Given the description of an element on the screen output the (x, y) to click on. 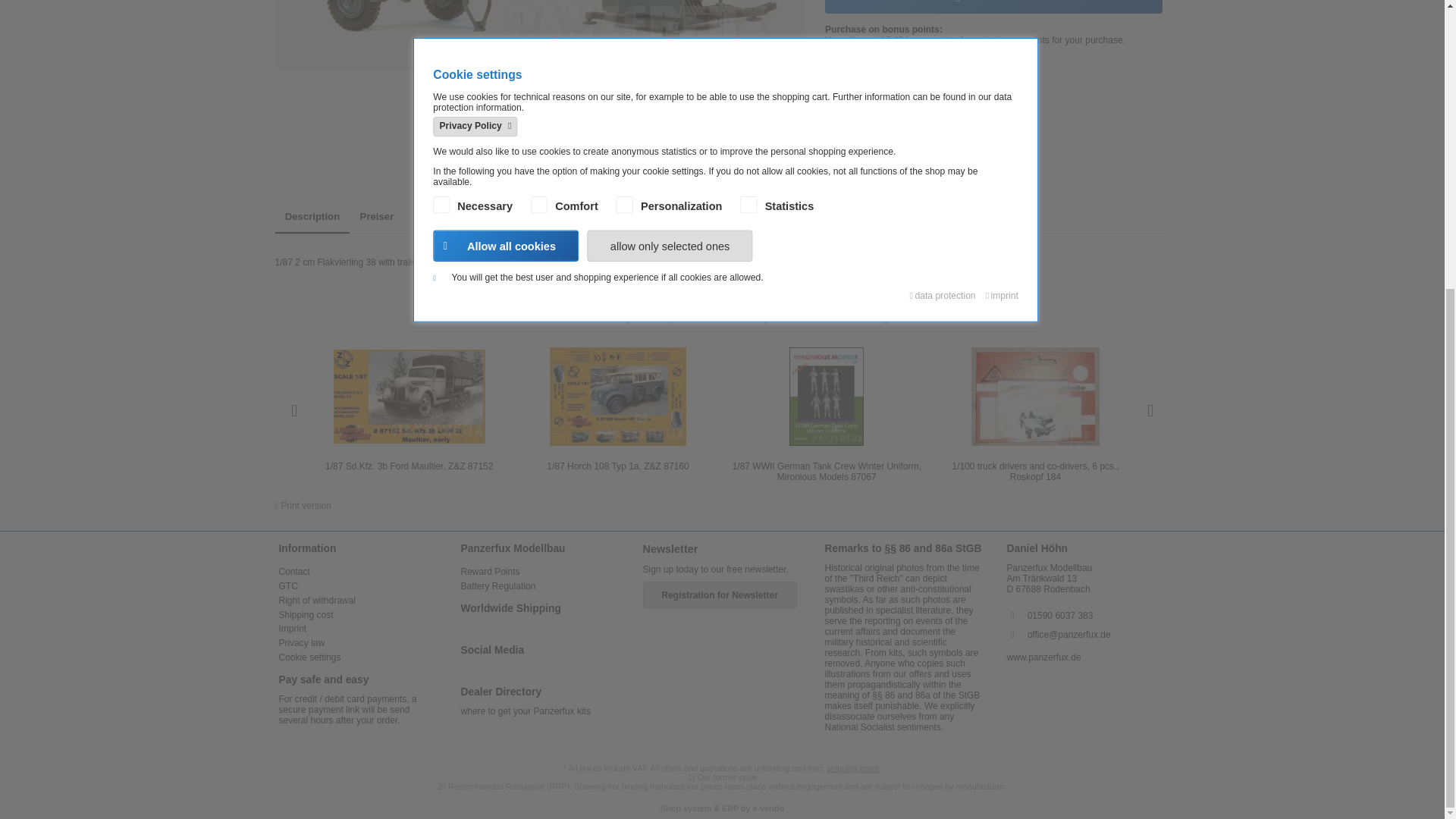
Add to Cart (993, 6)
GTC (288, 585)
This item was seen more favorable elsewhere (920, 124)
Contact (294, 571)
Print version (302, 505)
Questions to the product (904, 152)
